Given the description of an element on the screen output the (x, y) to click on. 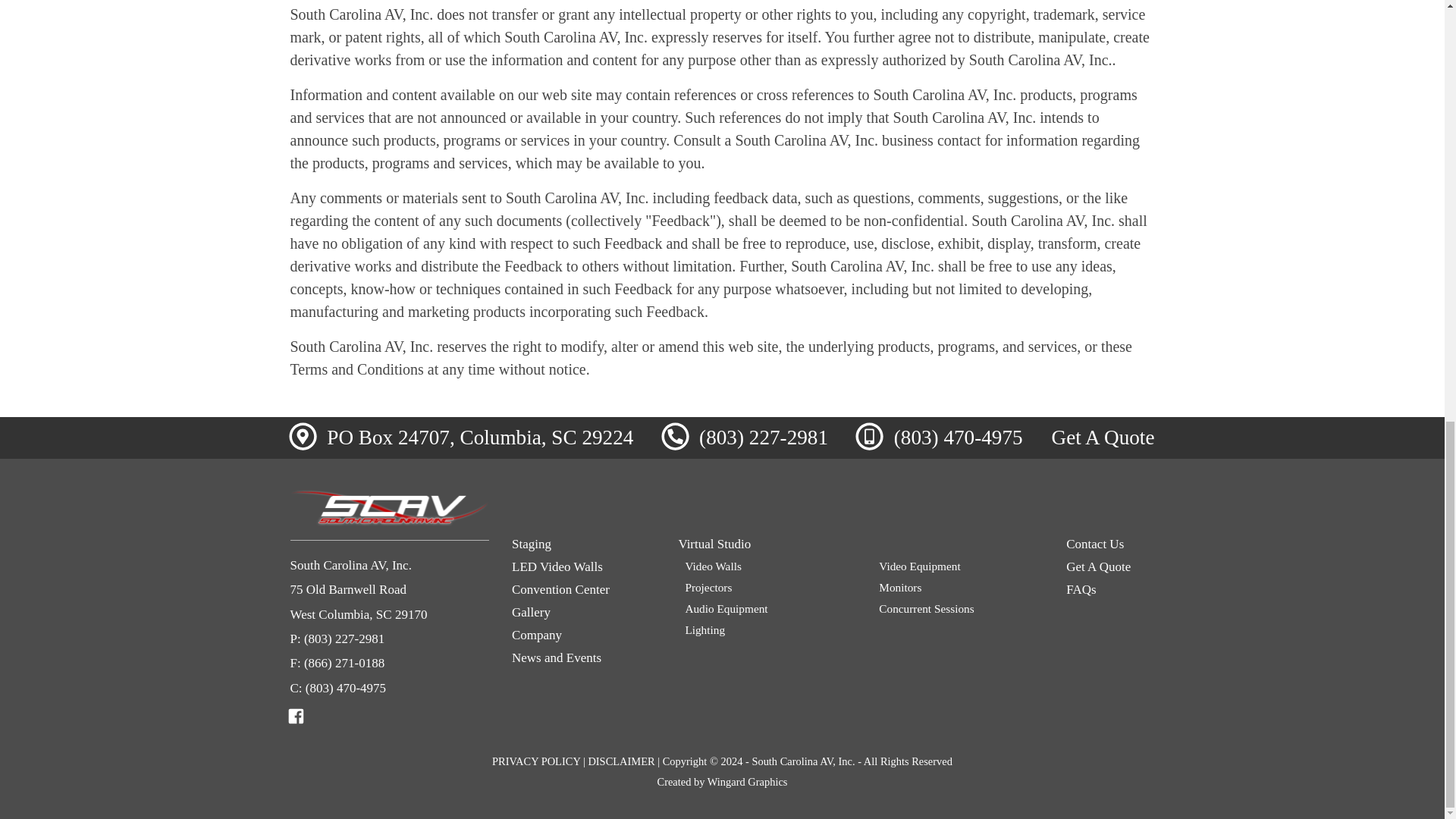
Projectors (766, 587)
Video Walls (766, 566)
Company (583, 635)
Gallery (583, 612)
Staging (583, 544)
Get A Quote (1102, 436)
Convention Center (583, 589)
Virtual Studio (860, 544)
LED Video Walls (583, 566)
News and Events (583, 657)
